Given the description of an element on the screen output the (x, y) to click on. 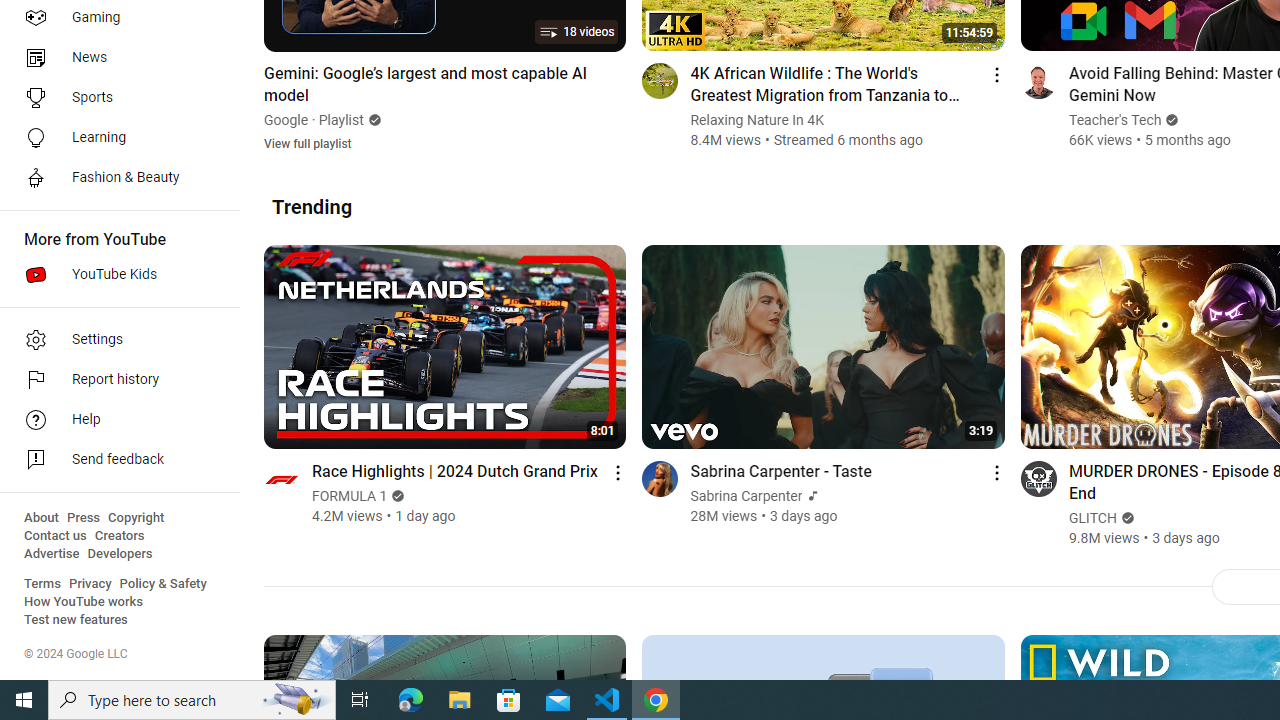
Report history (113, 380)
Relaxing Nature In 4K (757, 120)
Advertise (51, 554)
Sabrina Carpenter (746, 496)
Playlist (341, 120)
View full playlist (307, 142)
Test new features (76, 620)
Policy & Safety (163, 584)
Contact us (55, 536)
Sports (113, 97)
